Given the description of an element on the screen output the (x, y) to click on. 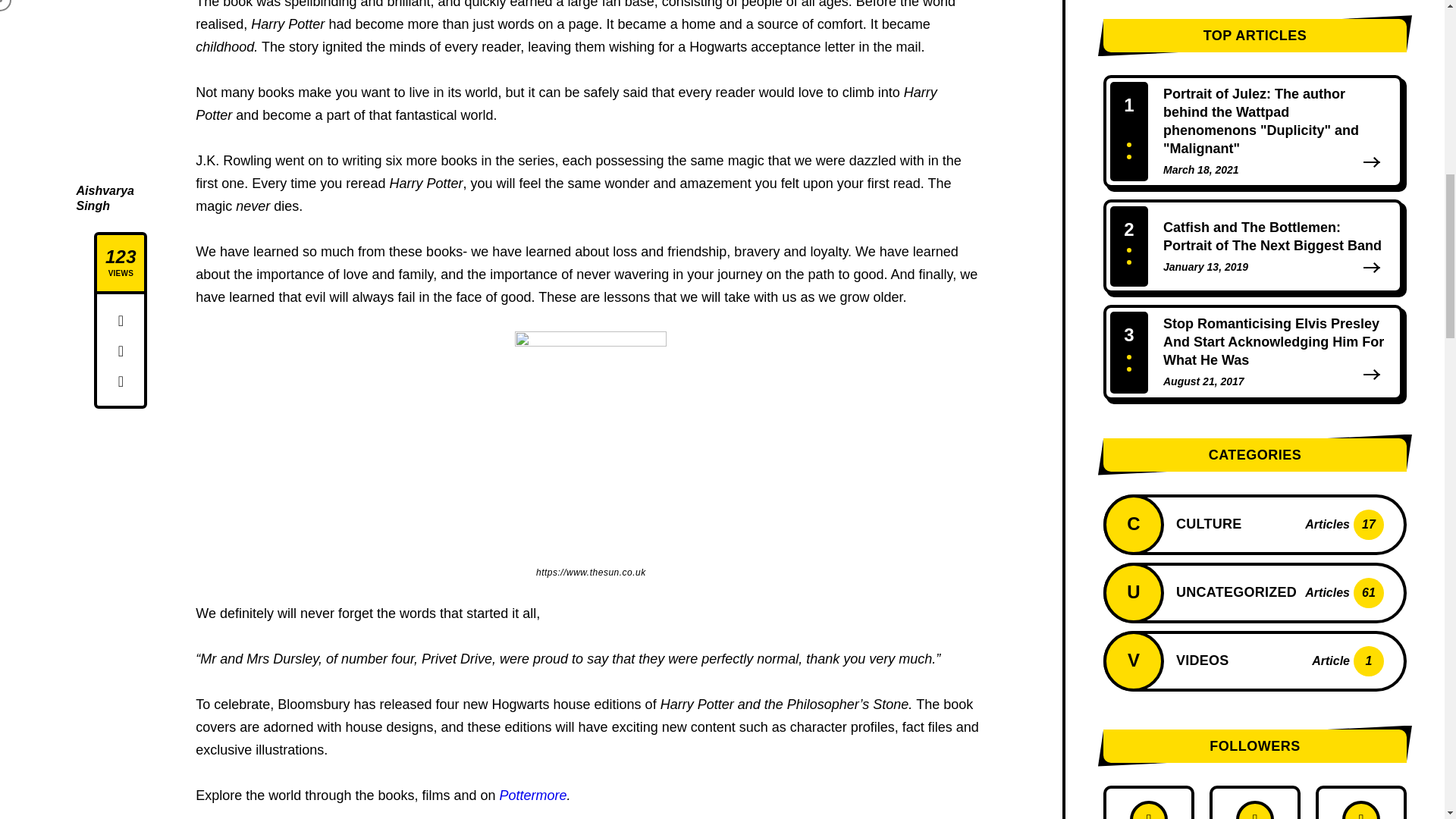
Mute (1338, 44)
